Given the description of an element on the screen output the (x, y) to click on. 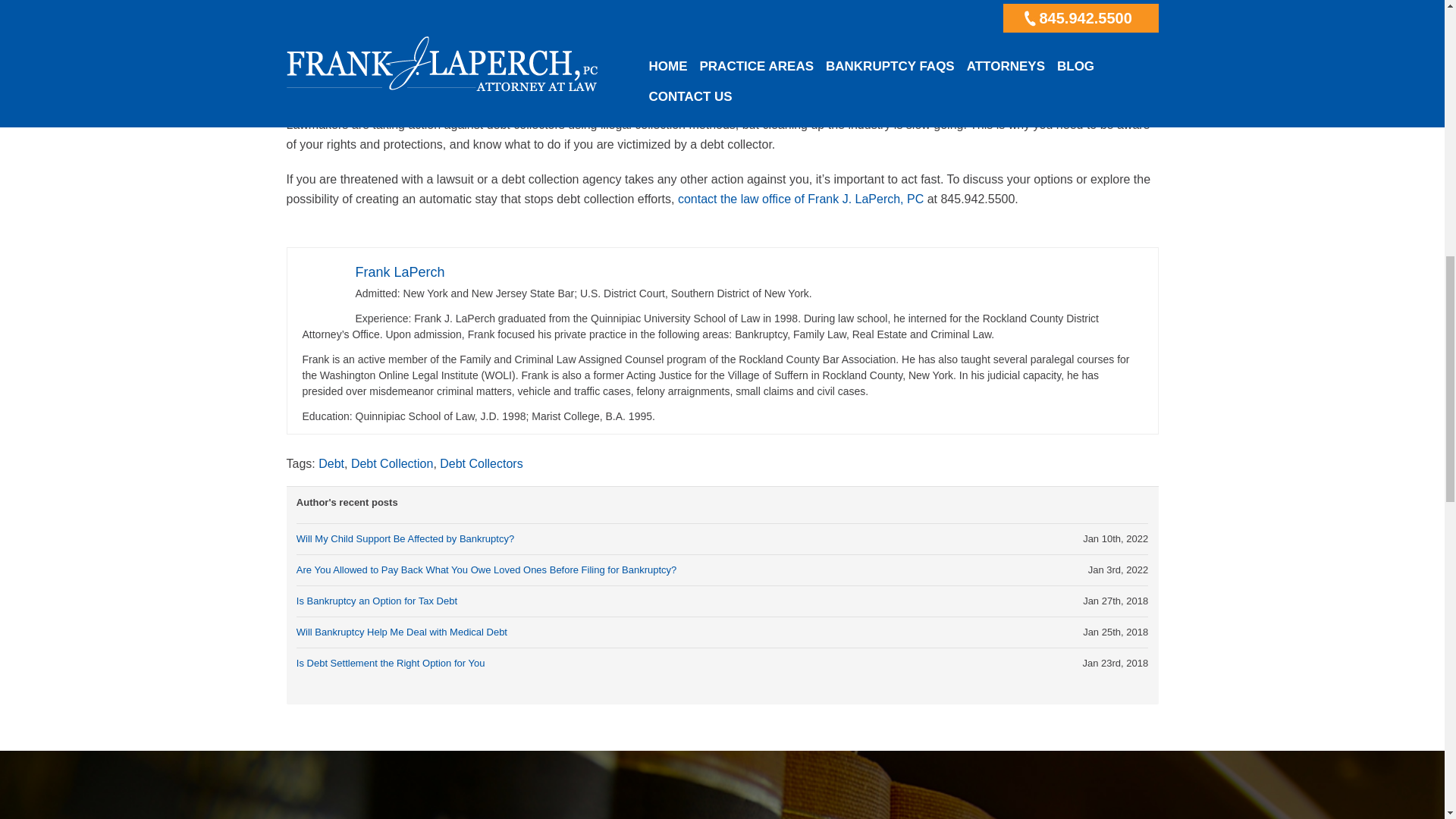
Frank LaPerch (399, 272)
Is Bankruptcy an Option for Tax Debt (377, 600)
Will Bankruptcy Help Me Deal with Medical Debt (401, 632)
Debt (330, 463)
lawsuit for debts (477, 2)
Debt Collectors (480, 463)
Is Debt Settlement the Right Option for You (390, 663)
Will My Child Support Be Affected by Bankruptcy? (405, 538)
Contact Rockland NY Bankruptcy Attorney (800, 198)
Debt Collection (391, 463)
contact the law office of Frank J. LaPerch, PC (800, 198)
